Given the description of an element on the screen output the (x, y) to click on. 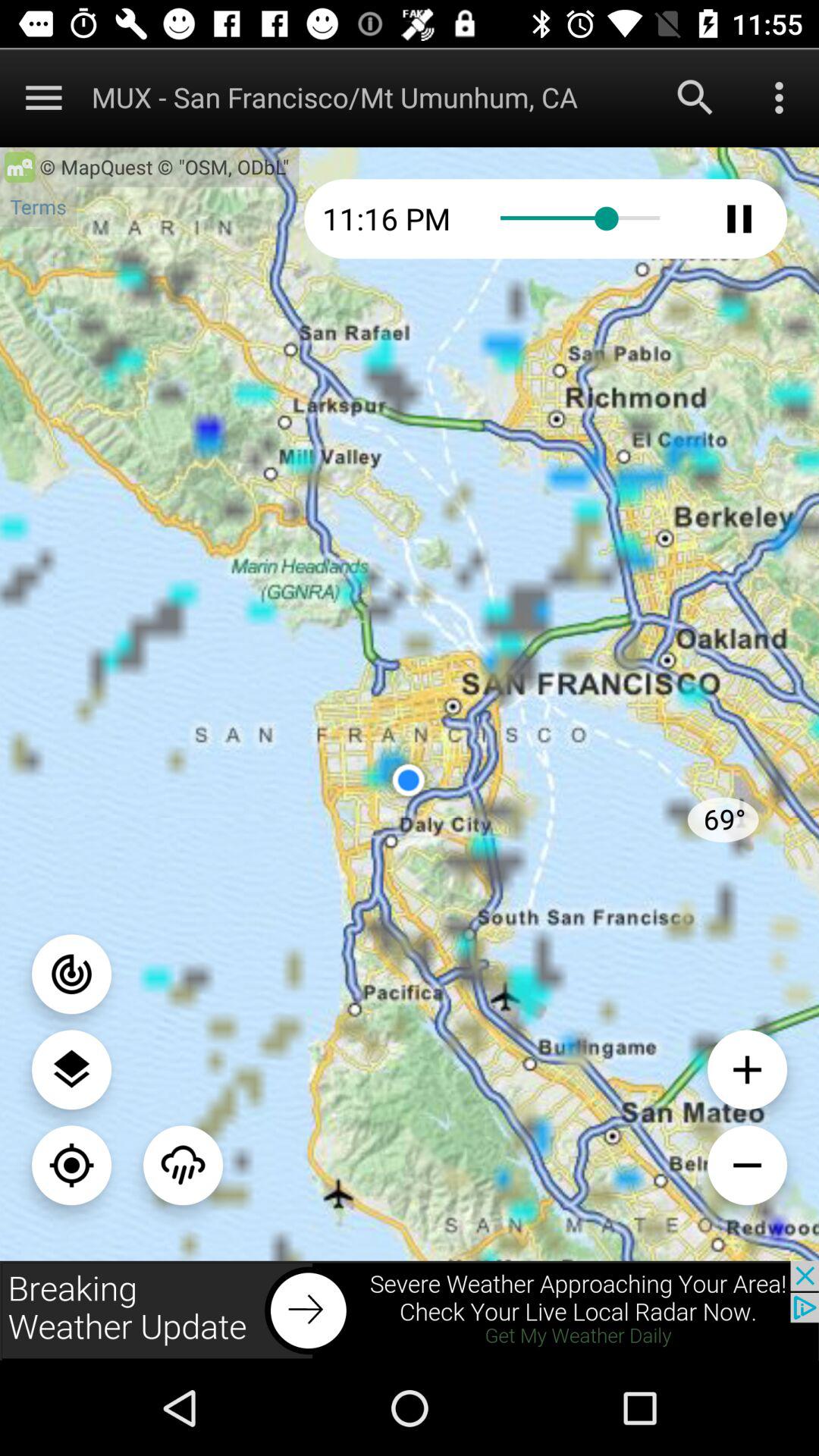
go to main menu option (43, 97)
